Given the description of an element on the screen output the (x, y) to click on. 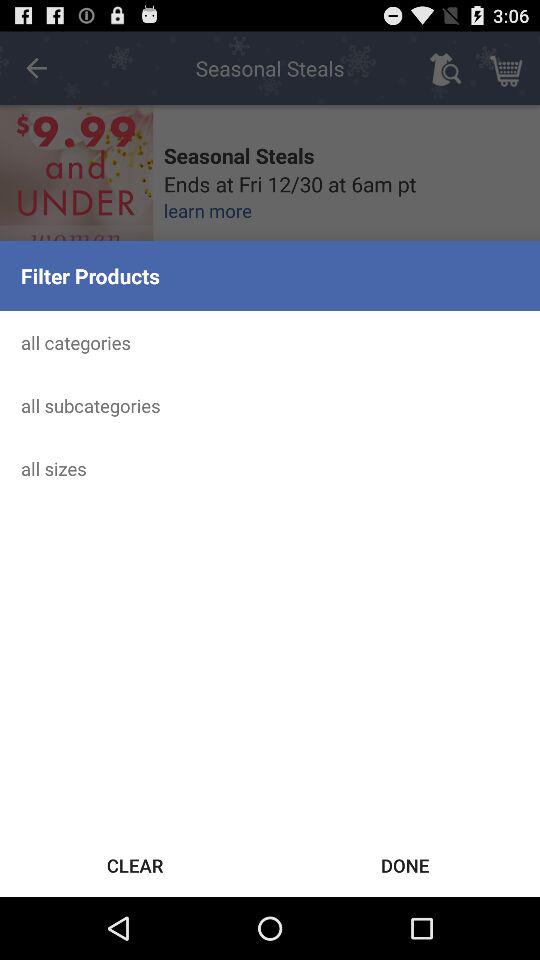
click the icon to the right of clear icon (405, 864)
